Given the description of an element on the screen output the (x, y) to click on. 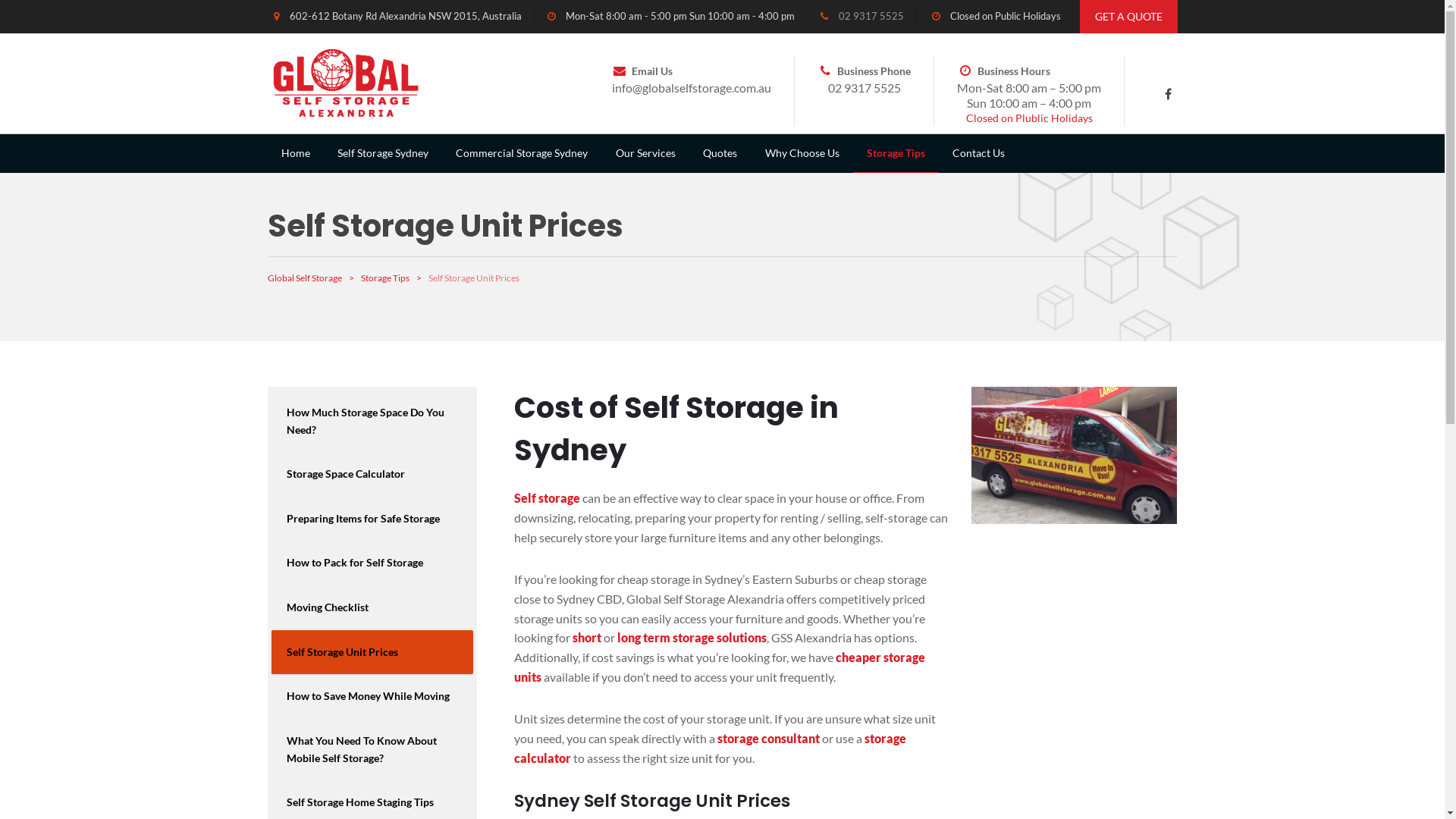
long term storage solutions Element type: text (691, 637)
Quotes Element type: text (719, 153)
Home Element type: text (294, 153)
Storage Tips Element type: text (384, 277)
cheaper storage units Element type: text (719, 666)
Storage Space Calculator Element type: text (372, 473)
short Element type: text (585, 637)
Moving Checklist Element type: text (372, 607)
Contact Us Element type: text (978, 153)
storage consultant Element type: text (768, 738)
Global Self Storage Element type: hover (342, 81)
Global Self Storage Element type: text (303, 277)
GET A QUOTE Element type: text (1128, 15)
Preparing Items for Safe Storage Element type: text (372, 518)
02 9317 5525 Element type: text (864, 87)
gss_free_van_300 Element type: hover (1074, 455)
storage calculator Element type: text (710, 748)
How Much Storage Space Do You Need? Element type: text (372, 420)
Our Services Element type: text (645, 153)
Self storage Element type: text (547, 497)
Why Choose Us Element type: text (801, 153)
What You Need To Know About Mobile Self Storage? Element type: text (372, 749)
Facebook Element type: hover (1168, 93)
Commercial Storage Sydney Element type: text (521, 153)
Storage Tips Element type: text (895, 153)
How to Pack for Self Storage Element type: text (372, 562)
02 9317 5525 Element type: text (870, 15)
Self Storage Sydney Element type: text (382, 153)
Self Storage Unit Prices Element type: text (372, 652)
How to Save Money While Moving Element type: text (372, 696)
